Given the description of an element on the screen output the (x, y) to click on. 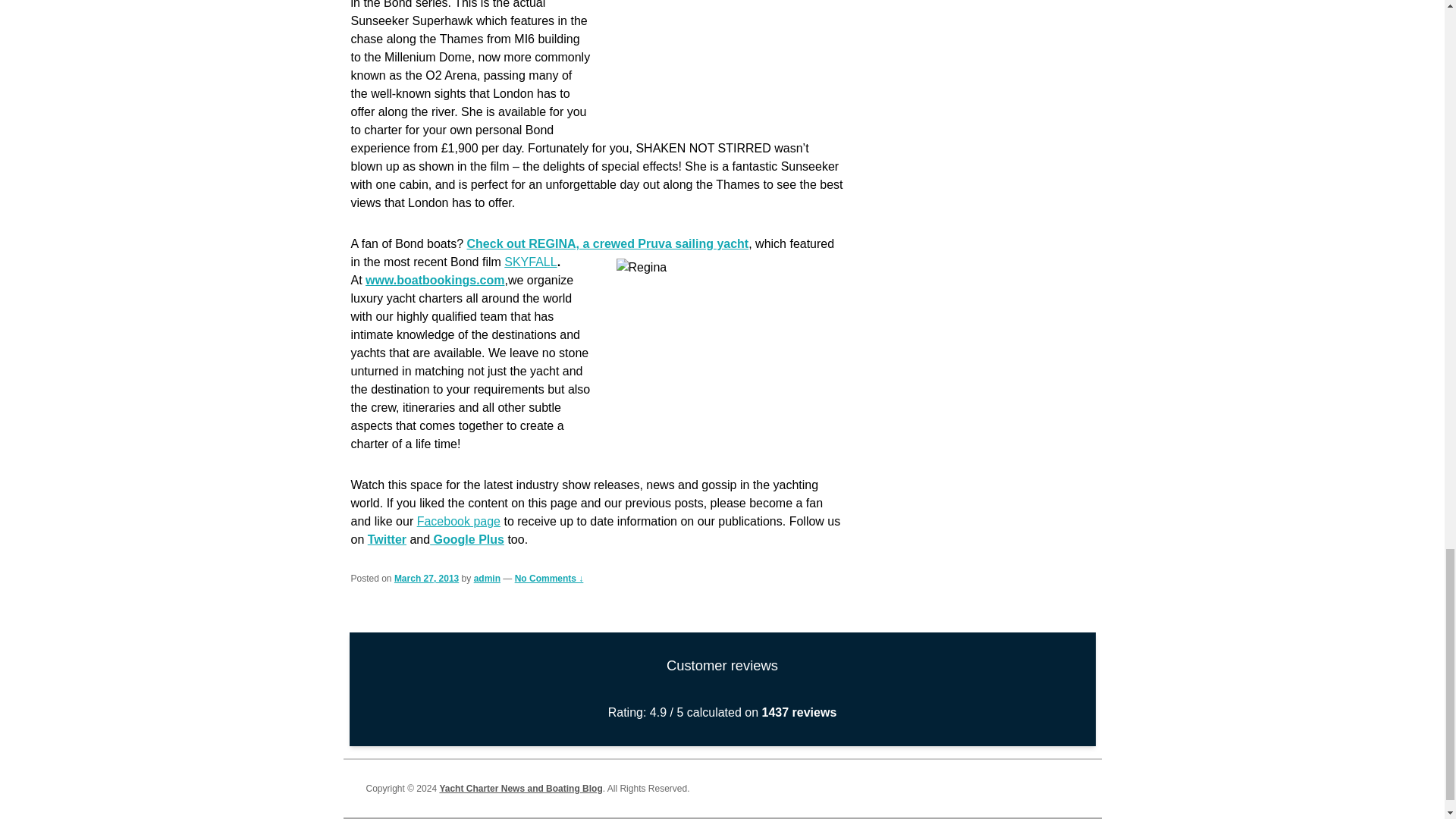
SKYFALL (529, 261)
Facebook page (458, 521)
Charter REGINA (608, 243)
www.boatbookings.com (434, 279)
5:18 pm (426, 578)
Charter Sunseeker SKYFALL (529, 261)
Check out REGINA, a crewed Pruva sailing yacht (608, 243)
